Given the description of an element on the screen output the (x, y) to click on. 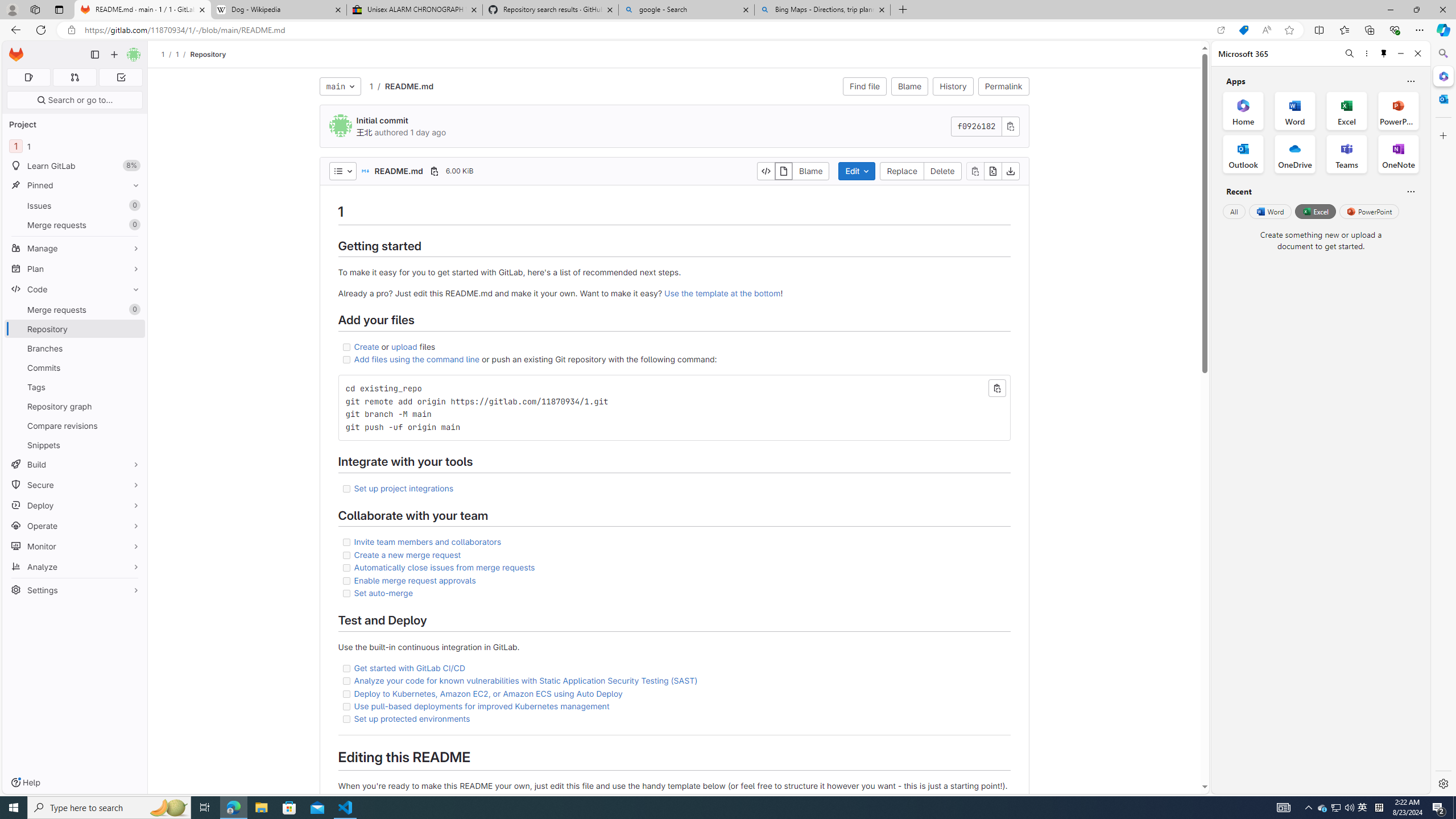
Pin Branches (132, 348)
Create a new merge request (673, 554)
Open in app (1220, 29)
Permalink (1002, 85)
Copy file path (434, 171)
Snippets (74, 444)
Pin Repository graph (132, 406)
Download (1010, 171)
Analyze (74, 566)
Class: btn btn-default btn-md gl-button btn-icon has-tooltip (997, 388)
Delete (942, 171)
11 (74, 145)
